Given the description of an element on the screen output the (x, y) to click on. 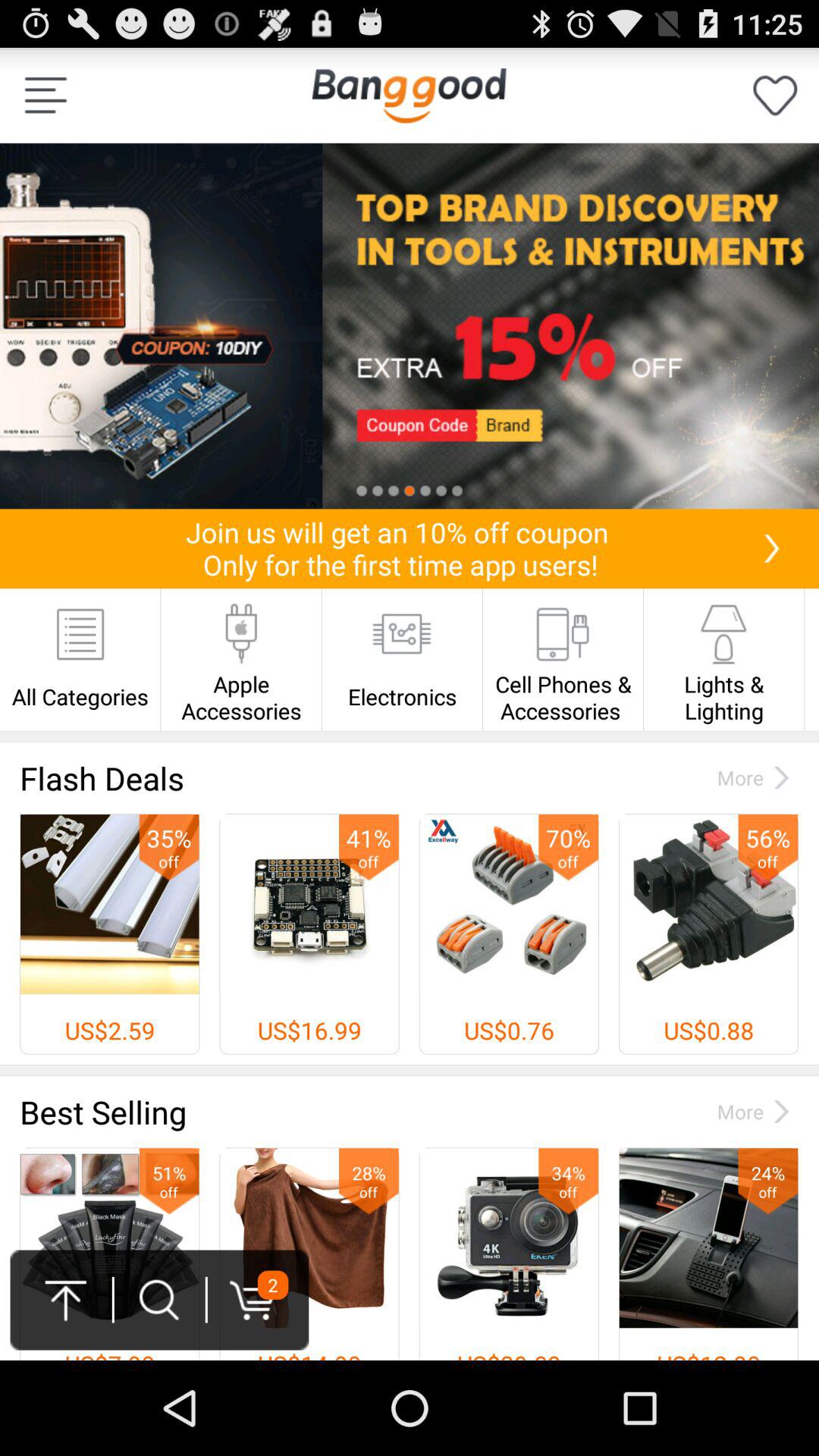
love website (775, 95)
